Given the description of an element on the screen output the (x, y) to click on. 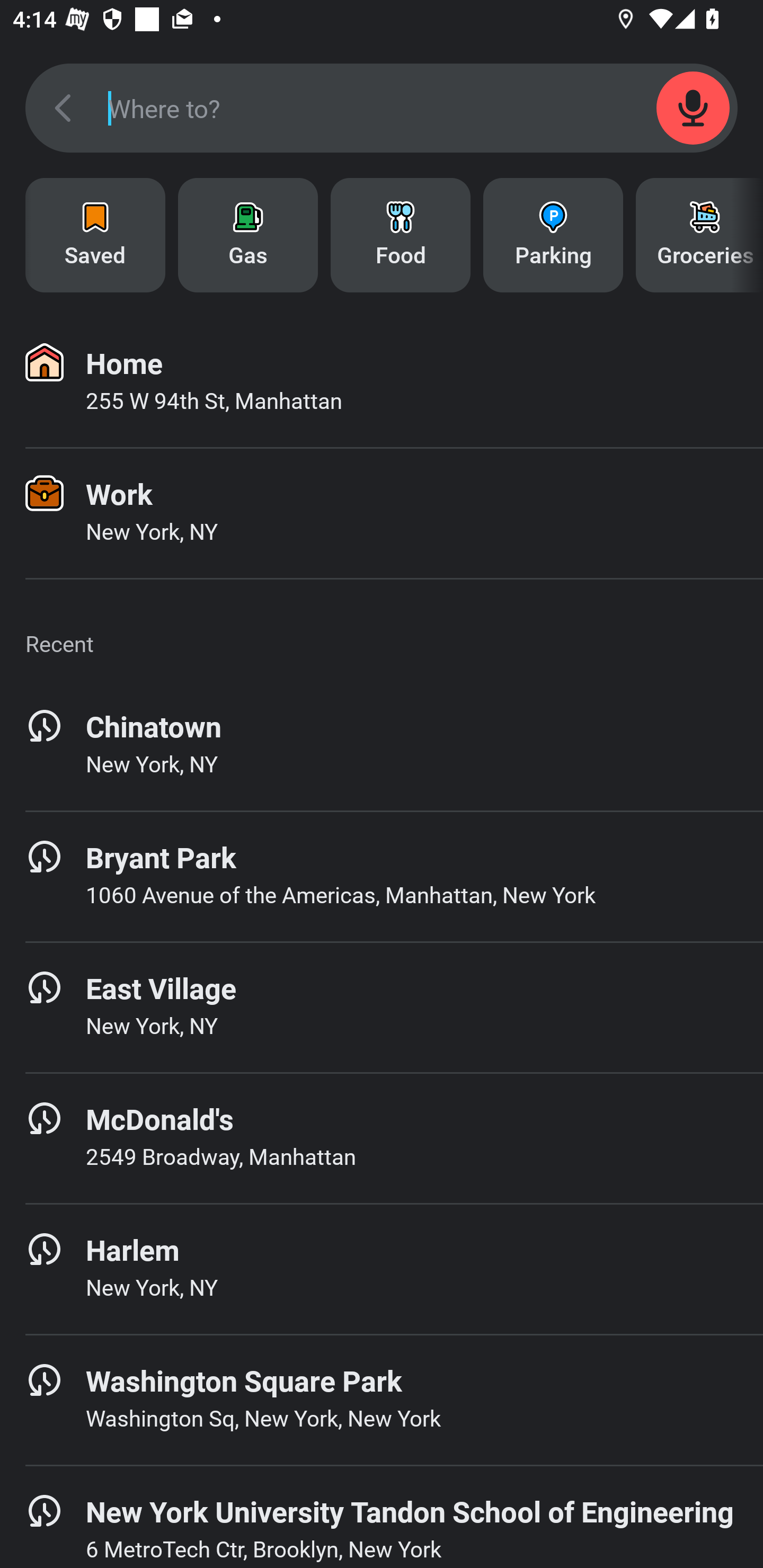
SEARCH_SCREEN_SEARCH_FIELD Where to? (381, 108)
Saved (95, 234)
Gas (247, 234)
Food (400, 234)
Parking (552, 234)
Groceries (699, 234)
Home 255 W 94th St, Manhattan (381, 382)
Work New York, NY (381, 513)
Chinatown New York, NY (381, 745)
East Village New York, NY (381, 1007)
McDonald's 2549 Broadway, Manhattan (381, 1138)
Harlem New York, NY (381, 1269)
